Given the description of an element on the screen output the (x, y) to click on. 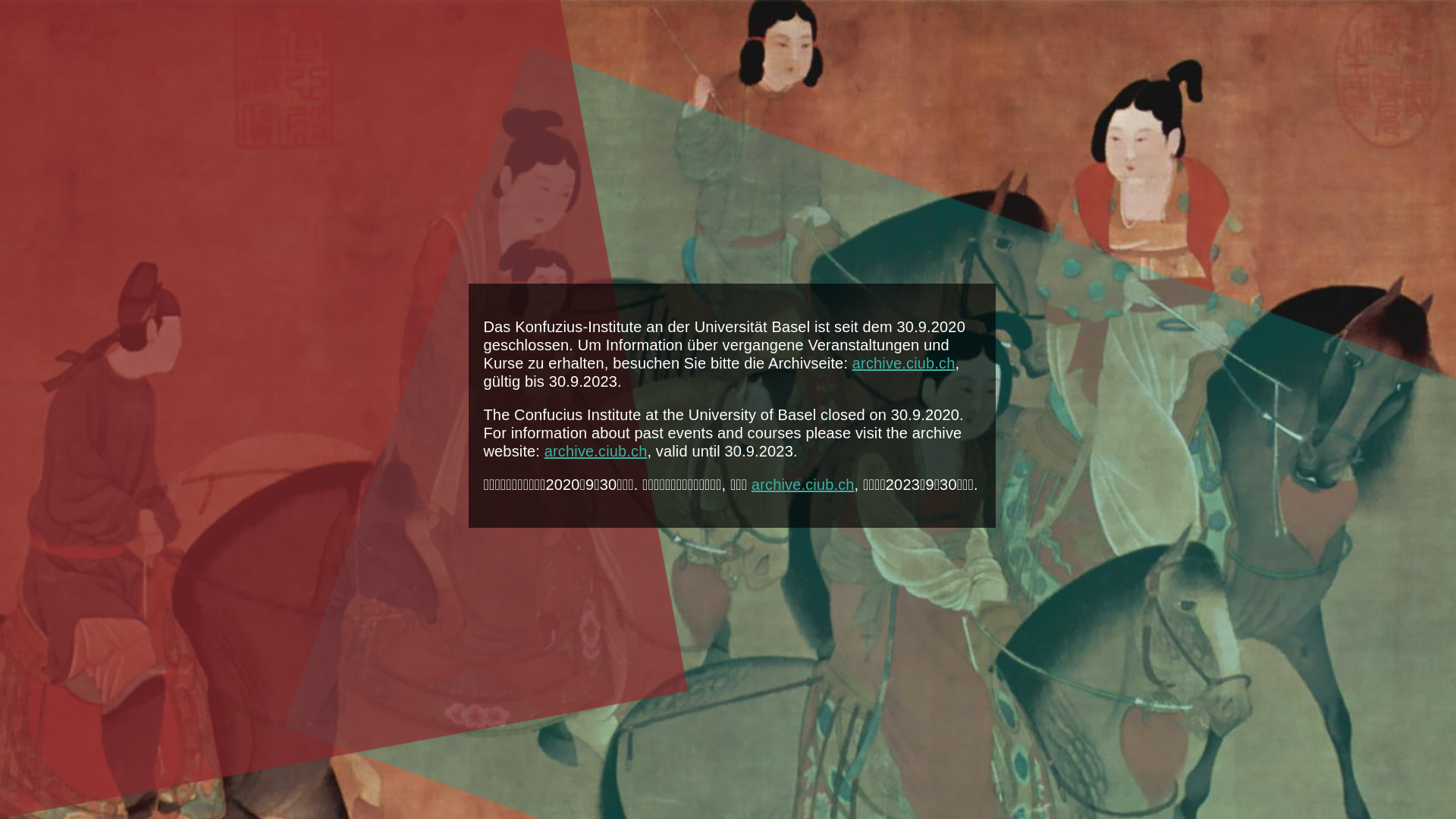
archive.ciub.ch Element type: text (802, 484)
archive.ciub.ch Element type: text (903, 362)
archive.ciub.ch Element type: text (595, 450)
